Given the description of an element on the screen output the (x, y) to click on. 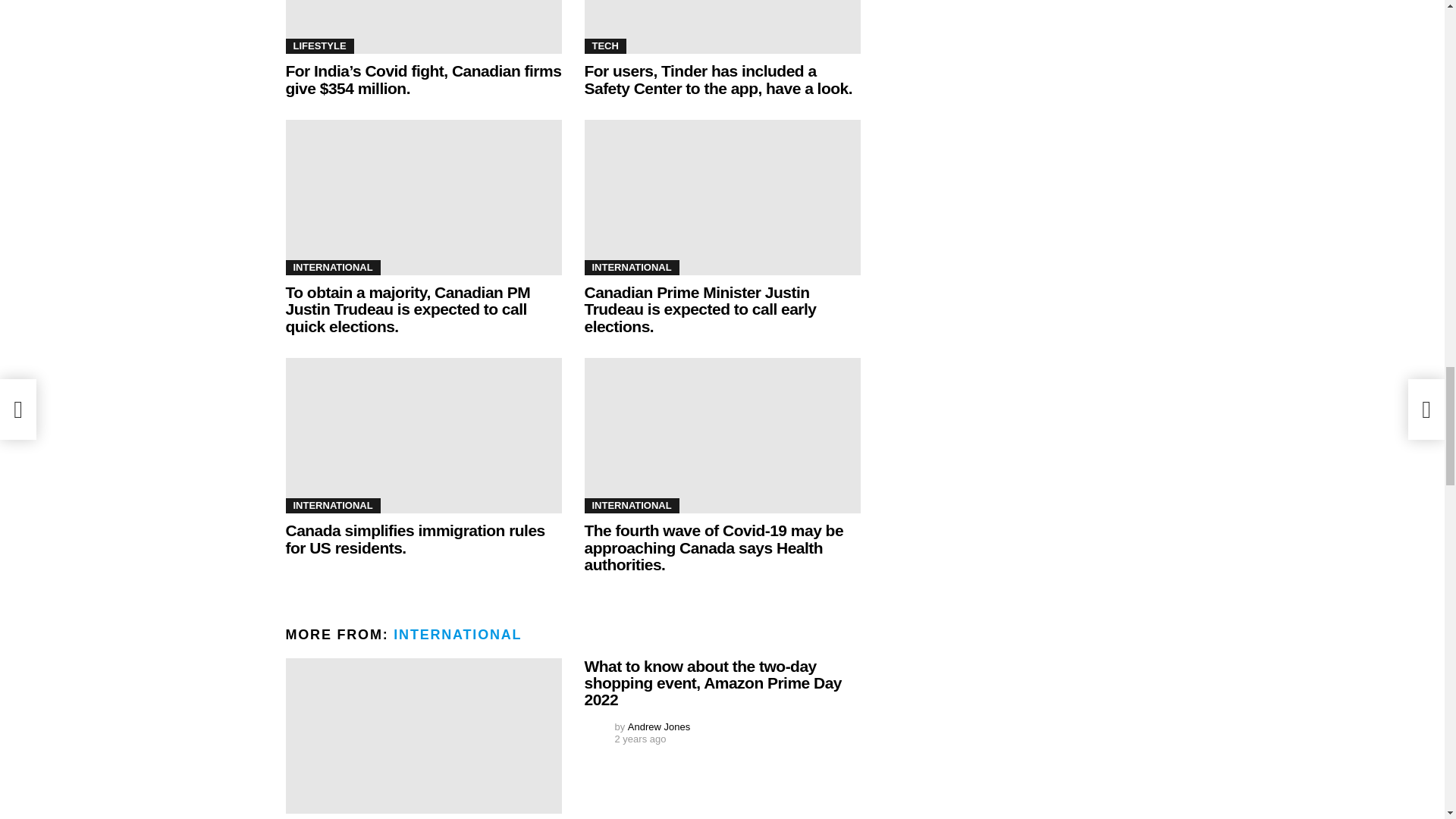
Posts by Andrew Jones (658, 726)
LIFESTYLE (319, 46)
INTERNATIONAL (332, 267)
Canada simplifies immigration rules for US residents. (422, 435)
TECH (604, 46)
